Given the description of an element on the screen output the (x, y) to click on. 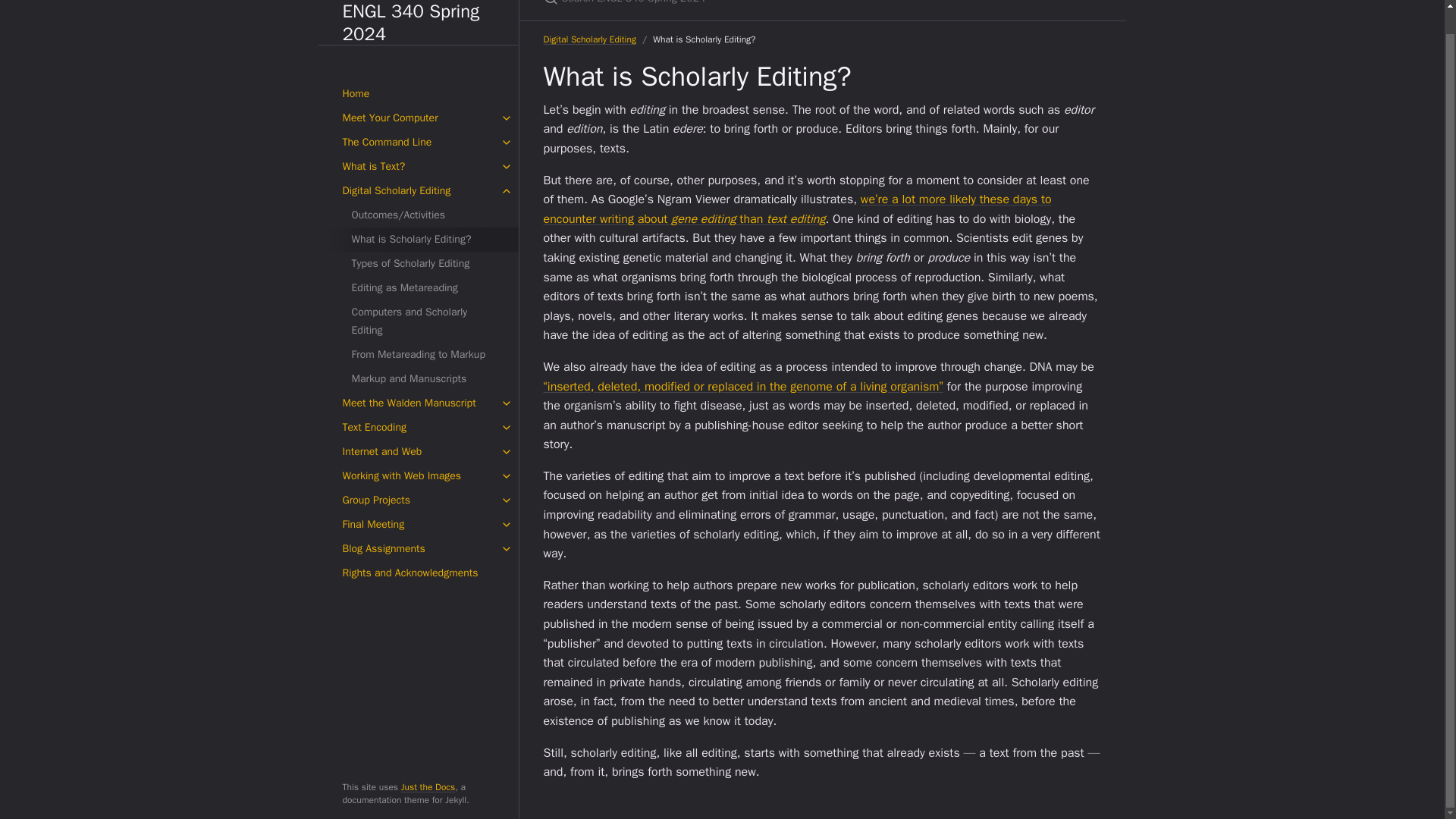
Computers and Scholarly Editing (422, 297)
Home (418, 69)
What is Text? (418, 142)
Editing as Metareading (422, 263)
Digital Scholarly Editing (418, 166)
Types of Scholarly Editing (422, 239)
ENGL 340 Spring 2024 (418, 10)
Meet Your Computer (418, 93)
What is Scholarly Editing? (422, 215)
The Command Line (418, 118)
